Given the description of an element on the screen output the (x, y) to click on. 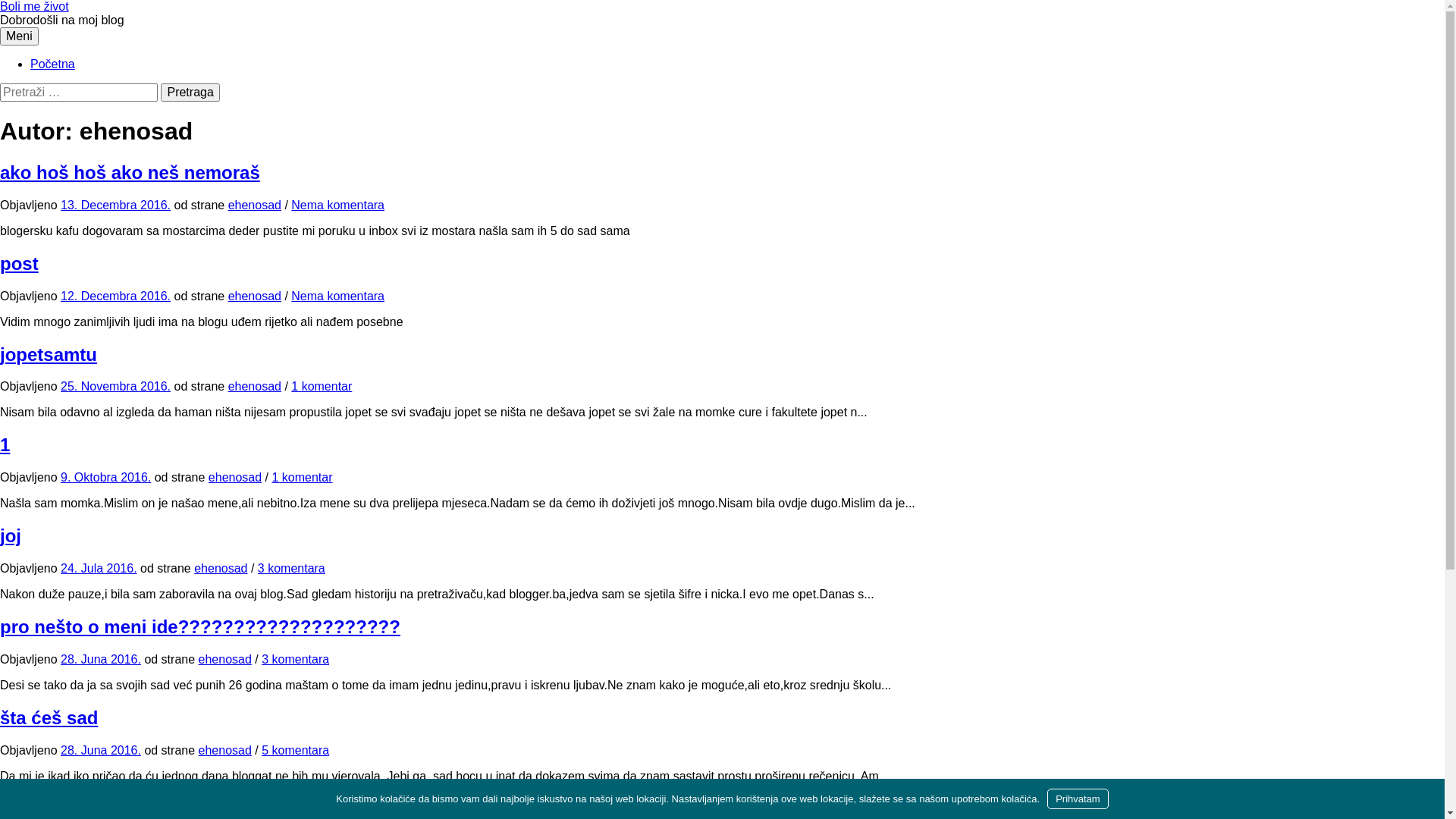
25. Novembra 2016. Element type: text (115, 385)
Pretraga Element type: text (189, 92)
post Element type: text (19, 263)
1 Element type: text (4, 444)
jopetsamtu Element type: text (48, 354)
9. Oktobra 2016. Element type: text (105, 476)
ehenosad Element type: text (254, 204)
Prihvatam Element type: text (1077, 798)
ehenosad Element type: text (234, 476)
24. Jula 2016. Element type: text (98, 567)
1 komentar
na 1 Element type: text (301, 476)
12. Decembra 2016. Element type: text (115, 295)
1 komentar
na jopetsamtu Element type: text (321, 385)
ehenosad Element type: text (254, 385)
ehenosad Element type: text (254, 295)
3 komentara
za joj Element type: text (291, 567)
ehenosad Element type: text (220, 567)
Meni Element type: text (19, 36)
ehenosad Element type: text (224, 749)
ehenosad Element type: text (224, 658)
28. Juna 2016. Element type: text (100, 658)
28. Juna 2016. Element type: text (100, 749)
joj Element type: text (10, 535)
13. Decembra 2016. Element type: text (115, 204)
Nema komentara
na post Element type: text (337, 295)
